Given the description of an element on the screen output the (x, y) to click on. 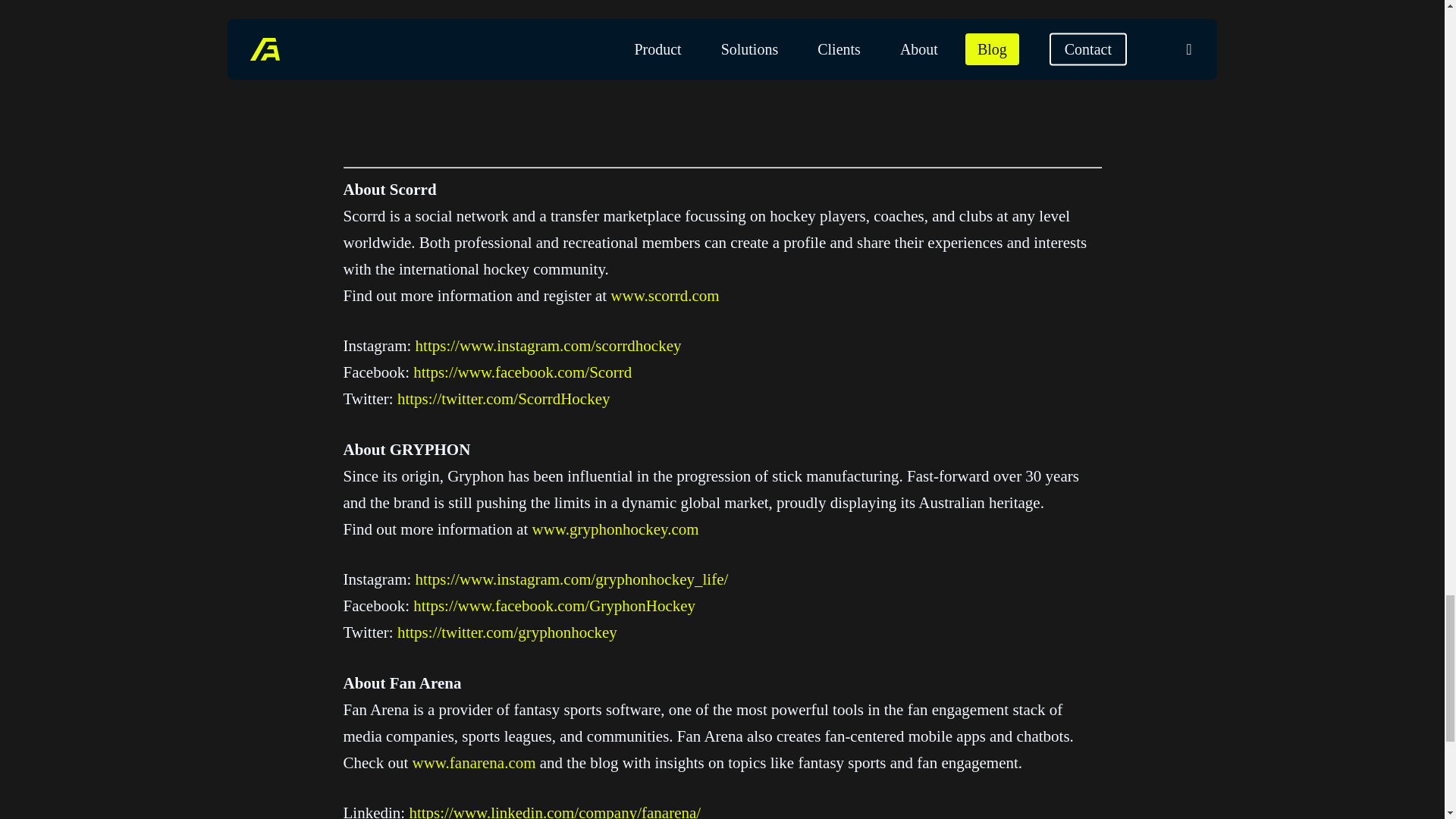
www.scorrd.com (664, 295)
www.fanarena.com (473, 762)
www.gryphonhockey.com (615, 529)
